Given the description of an element on the screen output the (x, y) to click on. 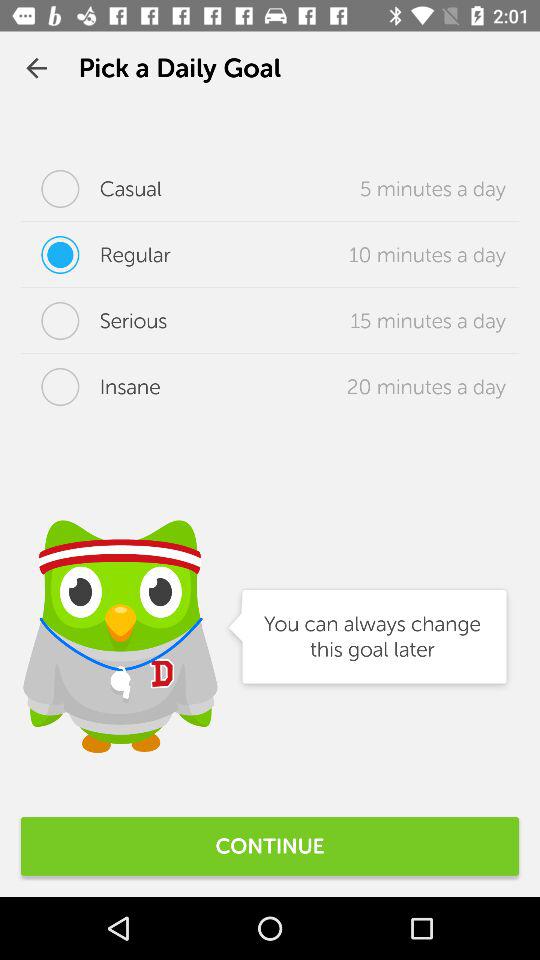
jump until the casual (91, 188)
